Given the description of an element on the screen output the (x, y) to click on. 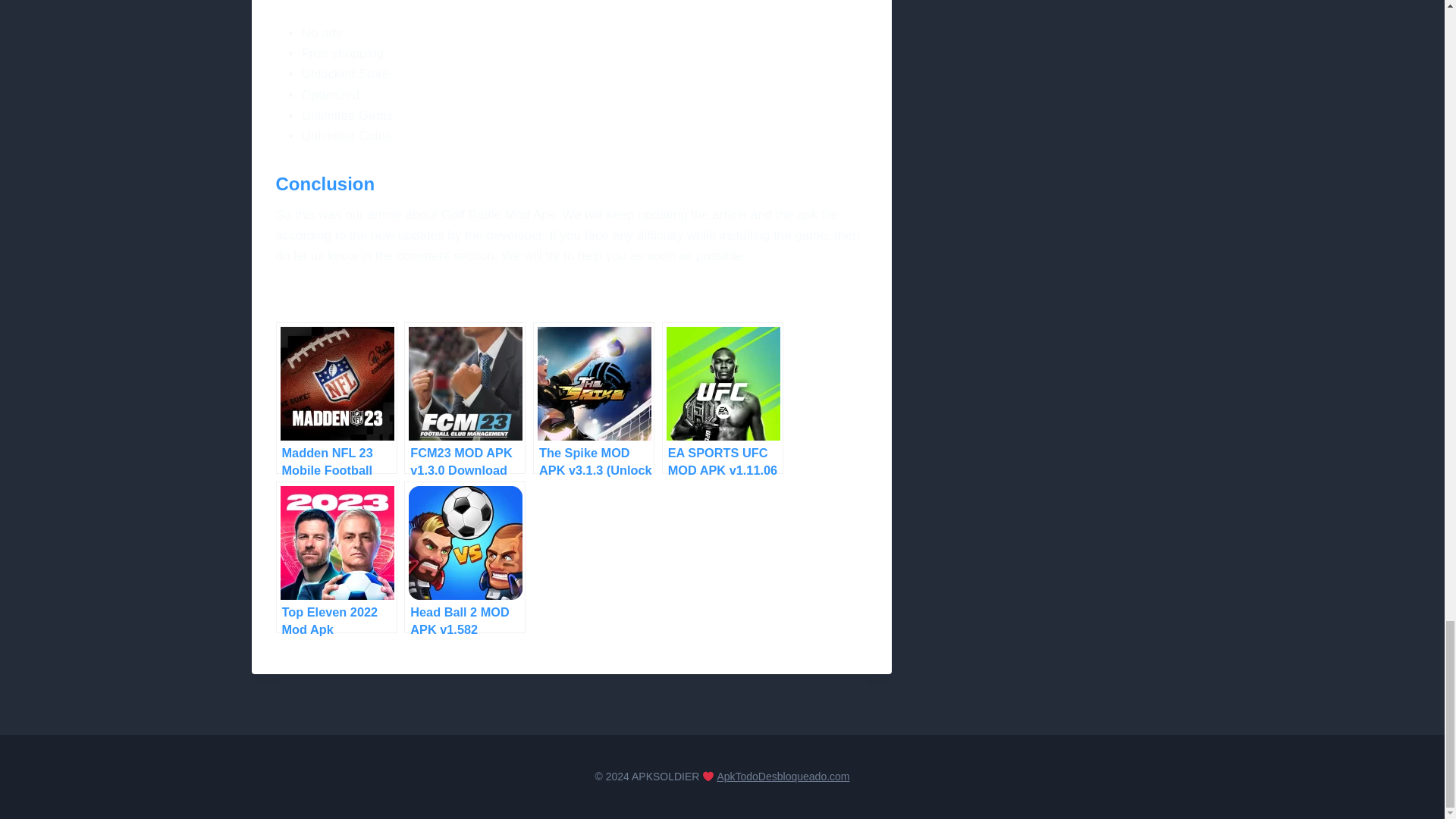
FCM23 MOD APK v1.3.0 Download (464, 398)
